Given the description of an element on the screen output the (x, y) to click on. 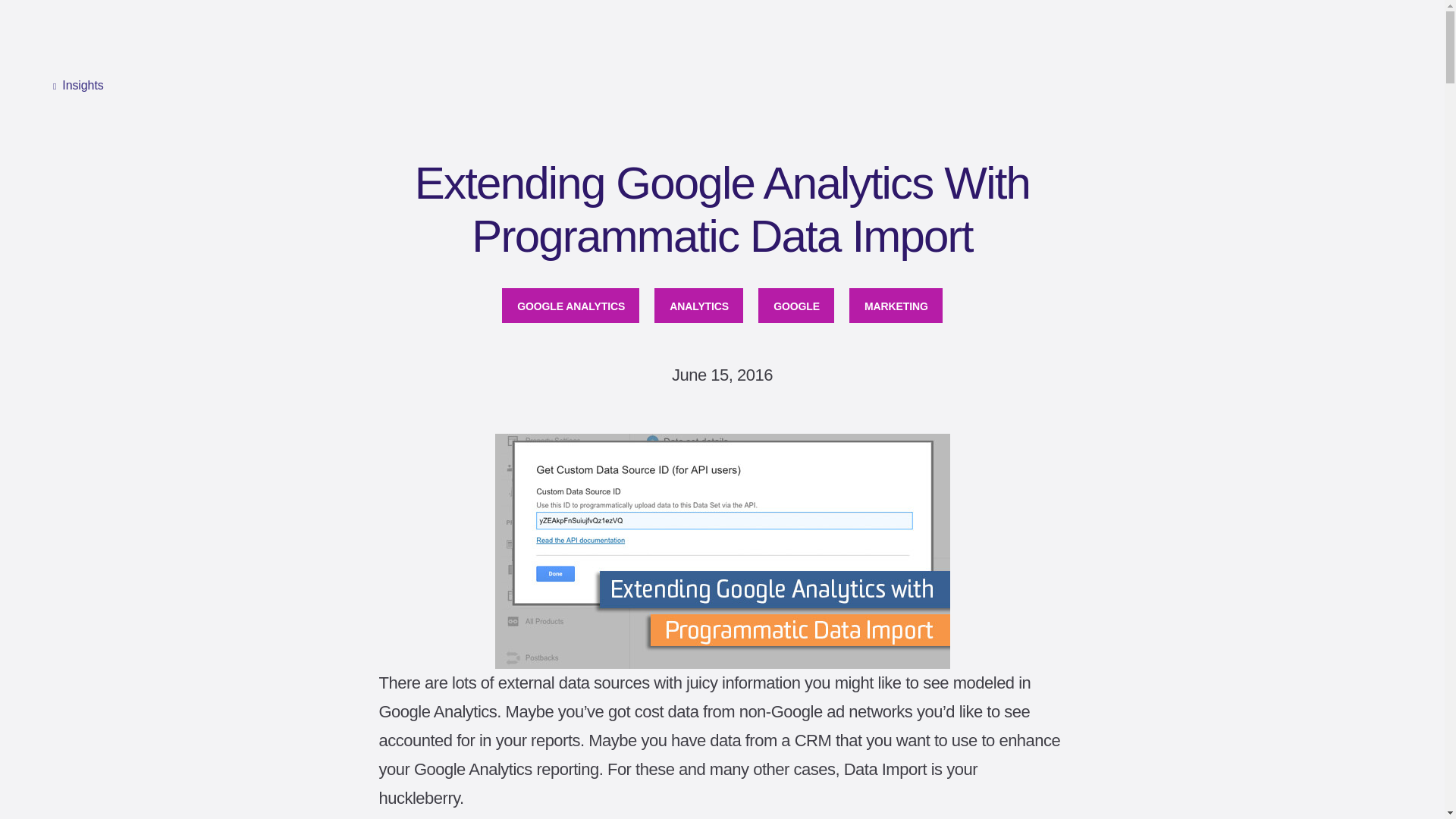
GOOGLE ANALYTICS (570, 305)
ANALYTICS (697, 305)
ga-programmatic-data-import (722, 551)
Insights (77, 86)
GOOGLE (796, 305)
MARKETING (895, 305)
